Given the description of an element on the screen output the (x, y) to click on. 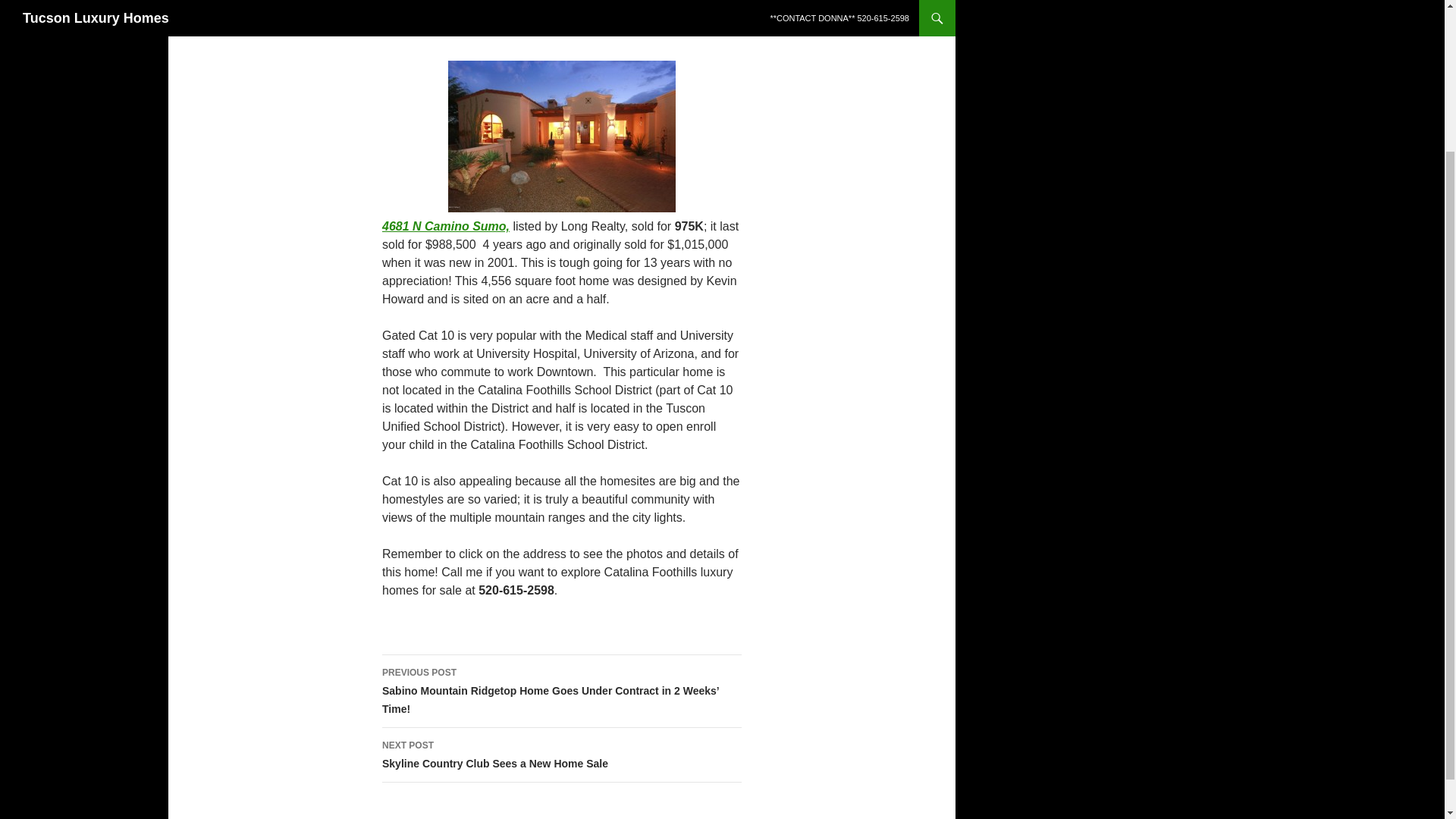
FEBRUARY 28, 2014 (561, 755)
DONNA ANDERSON (431, 23)
4681 N Camino Sumo, (540, 23)
